Given the description of an element on the screen output the (x, y) to click on. 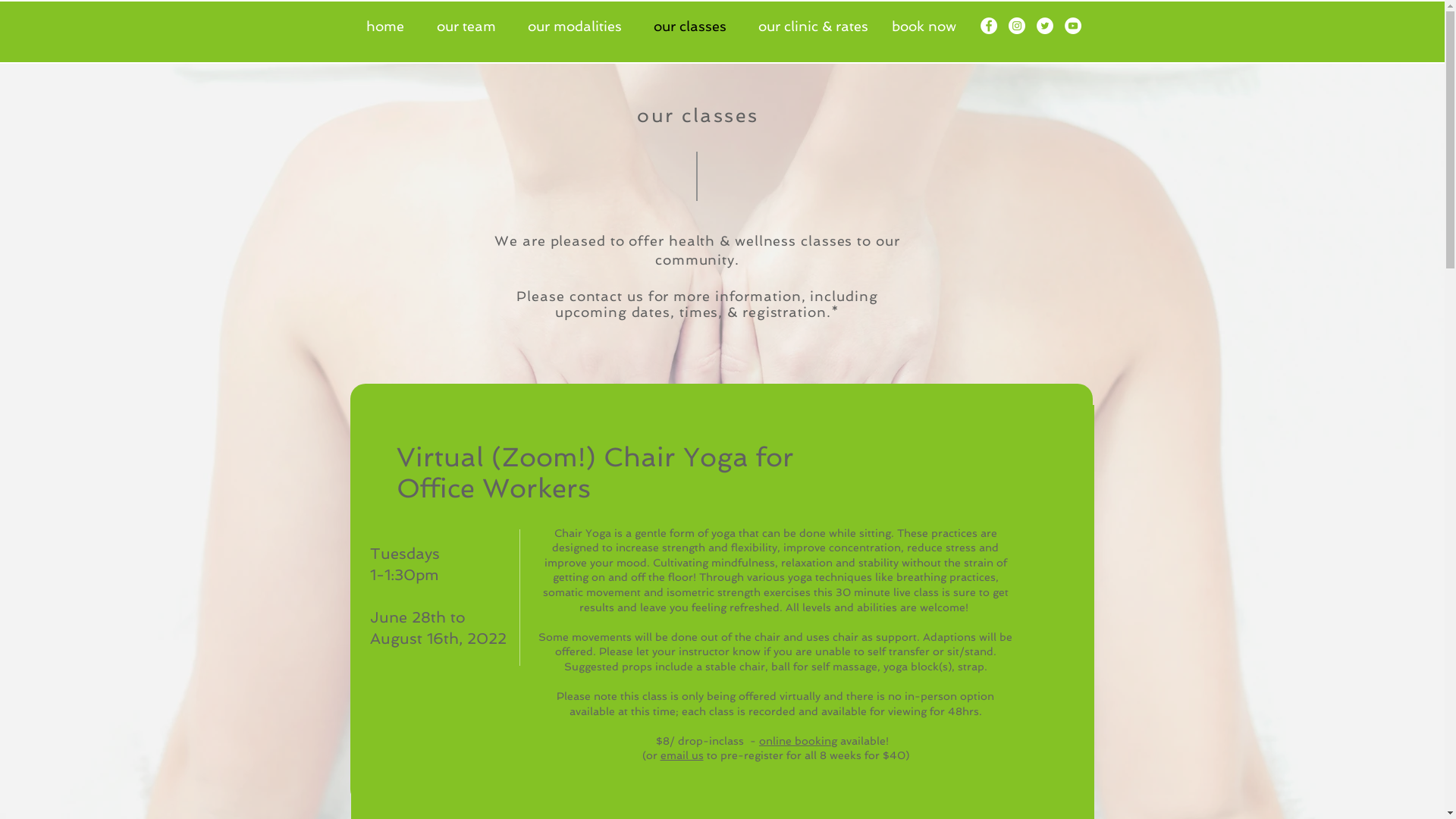
email us Element type: text (680, 755)
home Element type: text (389, 26)
our modalities Element type: text (578, 26)
book now Element type: text (924, 26)
our team Element type: text (469, 26)
our clinic & rates Element type: text (817, 26)
online booking Element type: text (798, 740)
our classes Element type: text (693, 26)
